Given the description of an element on the screen output the (x, y) to click on. 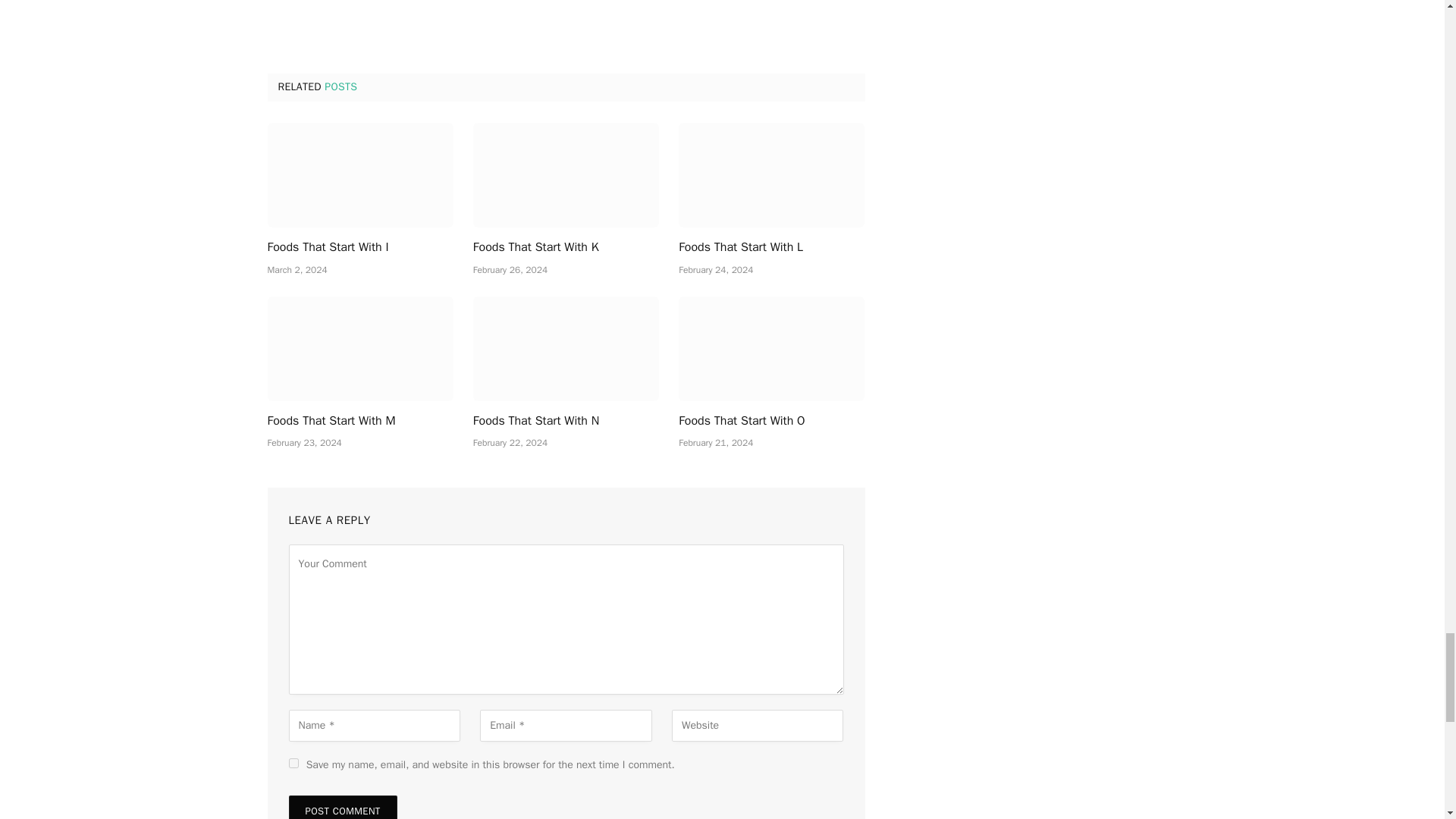
yes (293, 763)
Post Comment (342, 807)
